Given the description of an element on the screen output the (x, y) to click on. 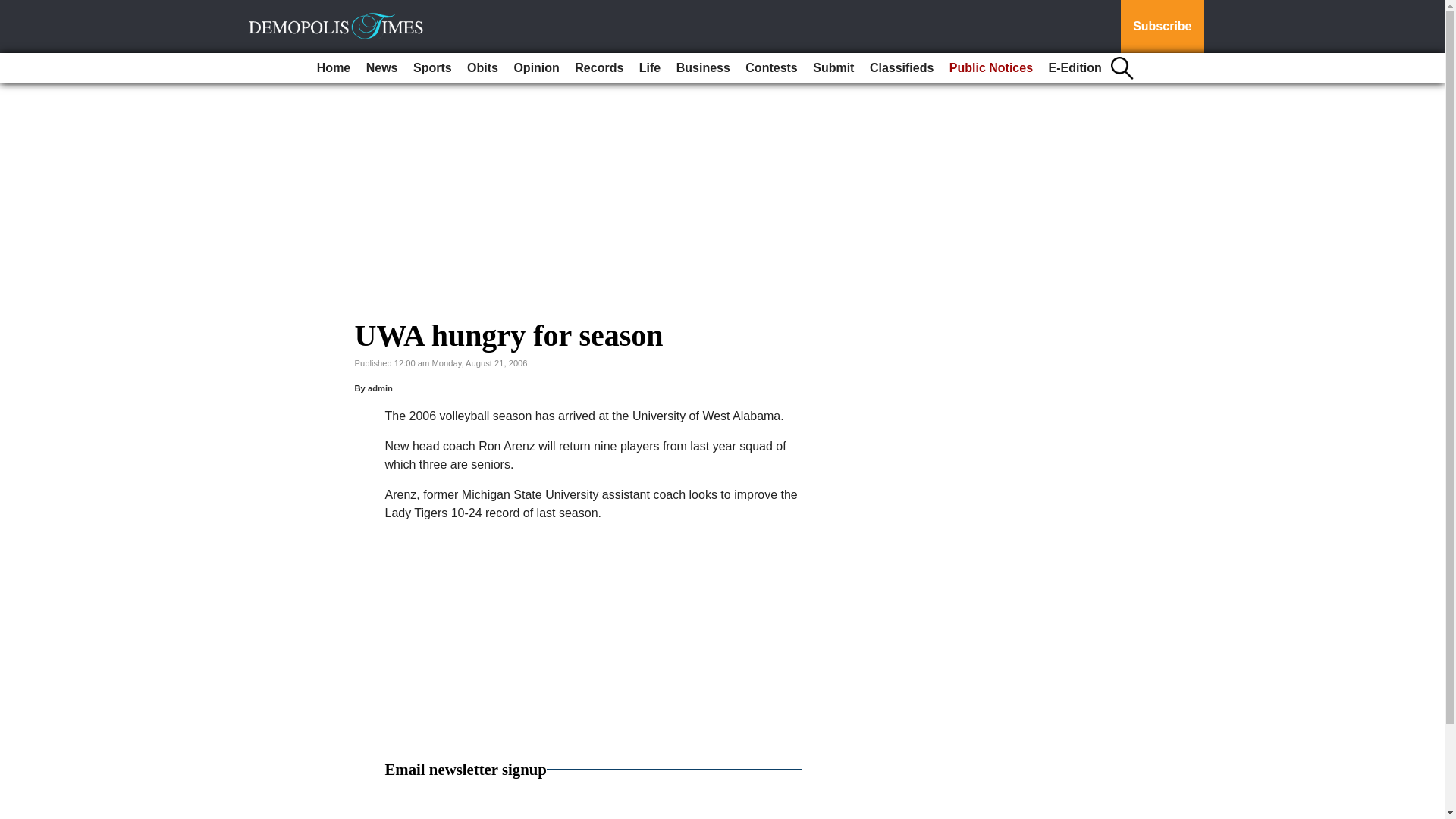
Go (13, 9)
Sports (432, 68)
Classifieds (901, 68)
News (381, 68)
E-Edition (1075, 68)
Submit (833, 68)
Home (333, 68)
Public Notices (991, 68)
Contests (771, 68)
Subscribe (1162, 26)
